Given the description of an element on the screen output the (x, y) to click on. 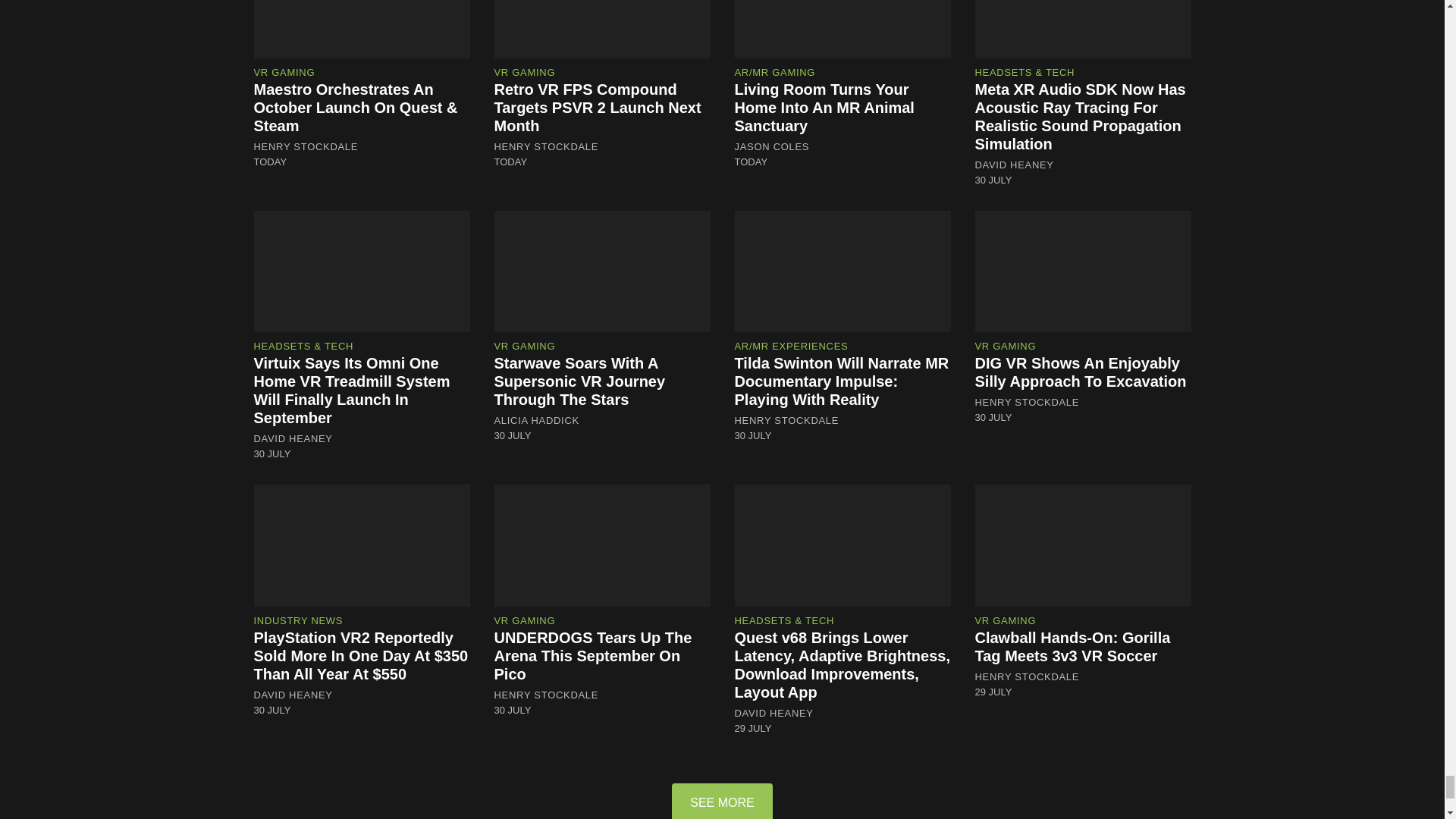
VR GAMING (283, 71)
HENRY STOCKDALE (305, 146)
